Given the description of an element on the screen output the (x, y) to click on. 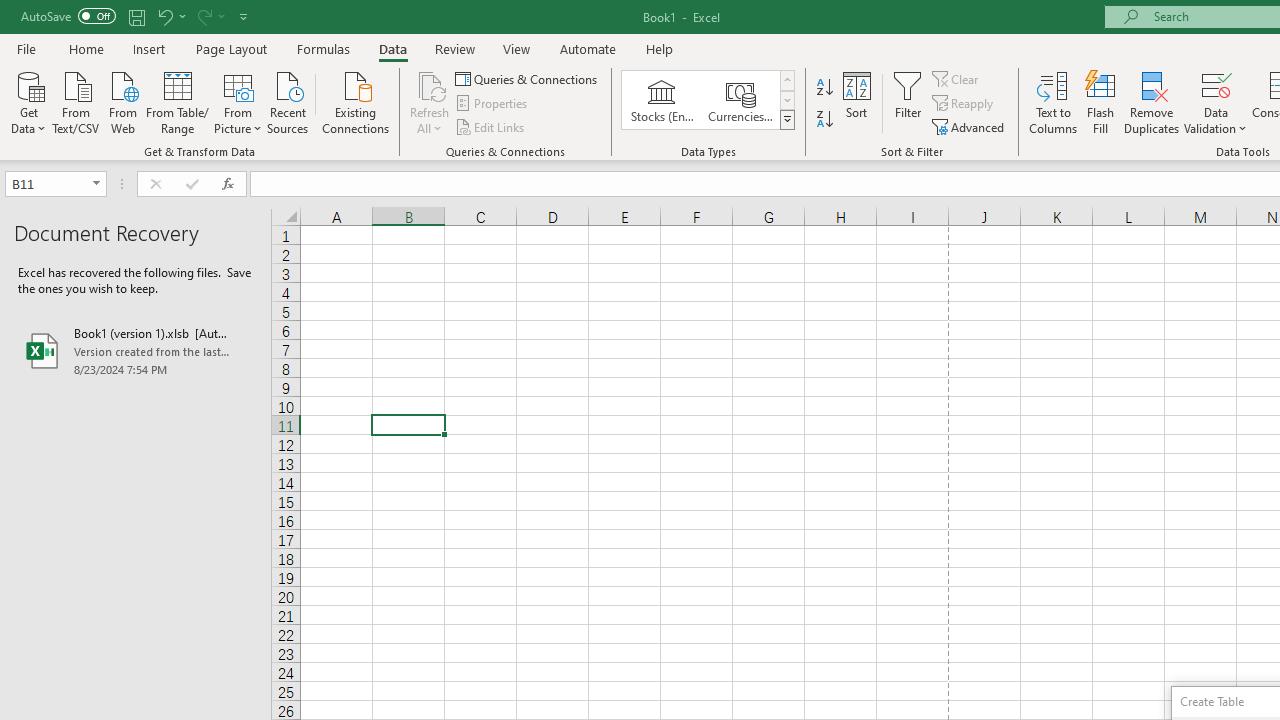
Sort... (856, 102)
File Tab (26, 48)
Class: NetUIImage (787, 119)
Save (136, 15)
Home (86, 48)
Get Data (28, 101)
Review (454, 48)
Queries & Connections (527, 78)
Currencies (English) (740, 100)
Recent Sources (287, 101)
Open (96, 183)
Text to Columns... (1053, 102)
AutoSave (68, 16)
Properties (492, 103)
